Given the description of an element on the screen output the (x, y) to click on. 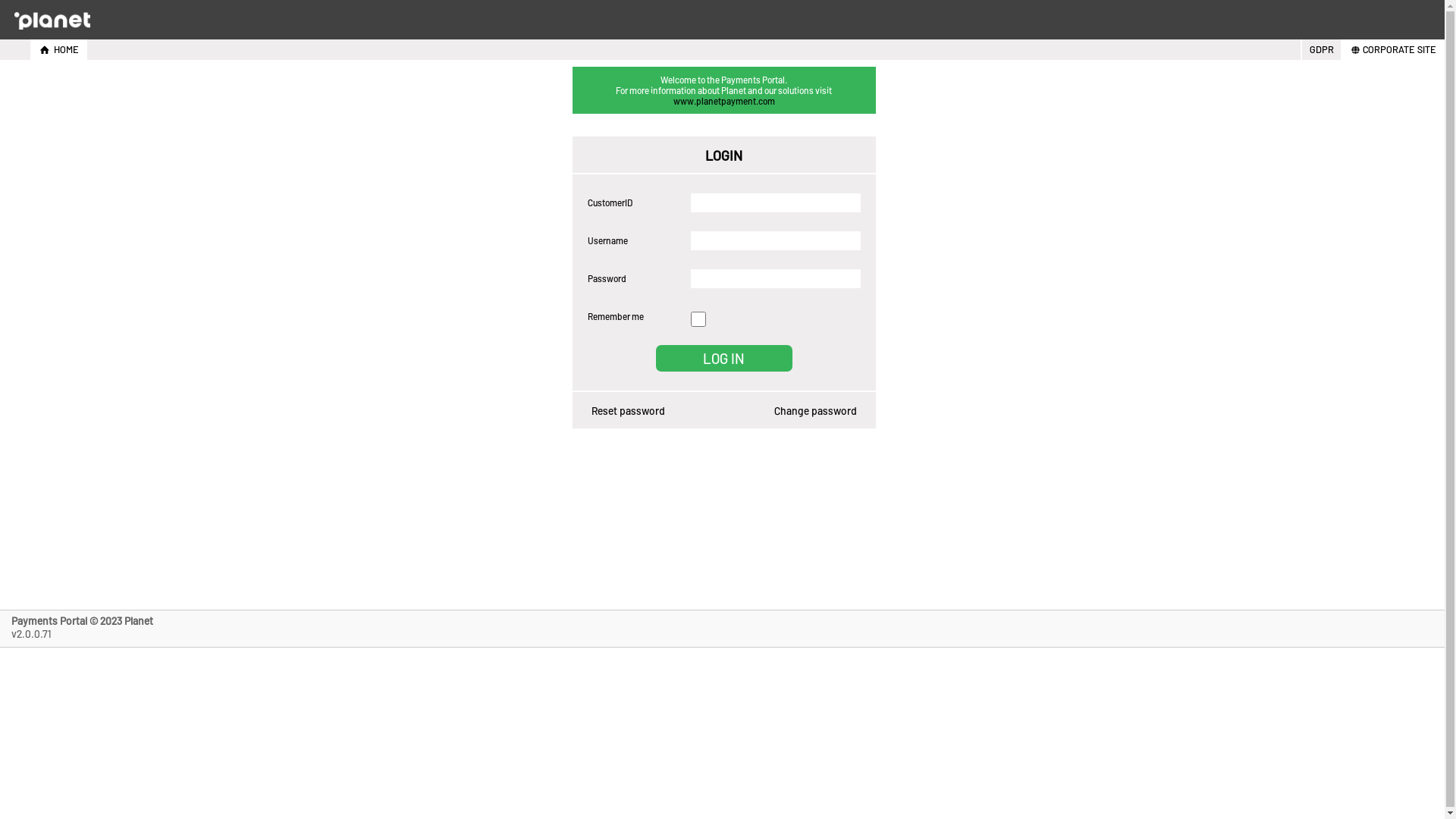
CORPORATE SITE Element type: text (1392, 49)
www.planetpayment.com Element type: text (724, 100)
HOME Element type: text (58, 49)
Reset password Element type: text (628, 410)
Change password Element type: text (814, 410)
LOG IN Element type: text (723, 358)
GDPR Element type: text (1319, 49)
